Given the description of an element on the screen output the (x, y) to click on. 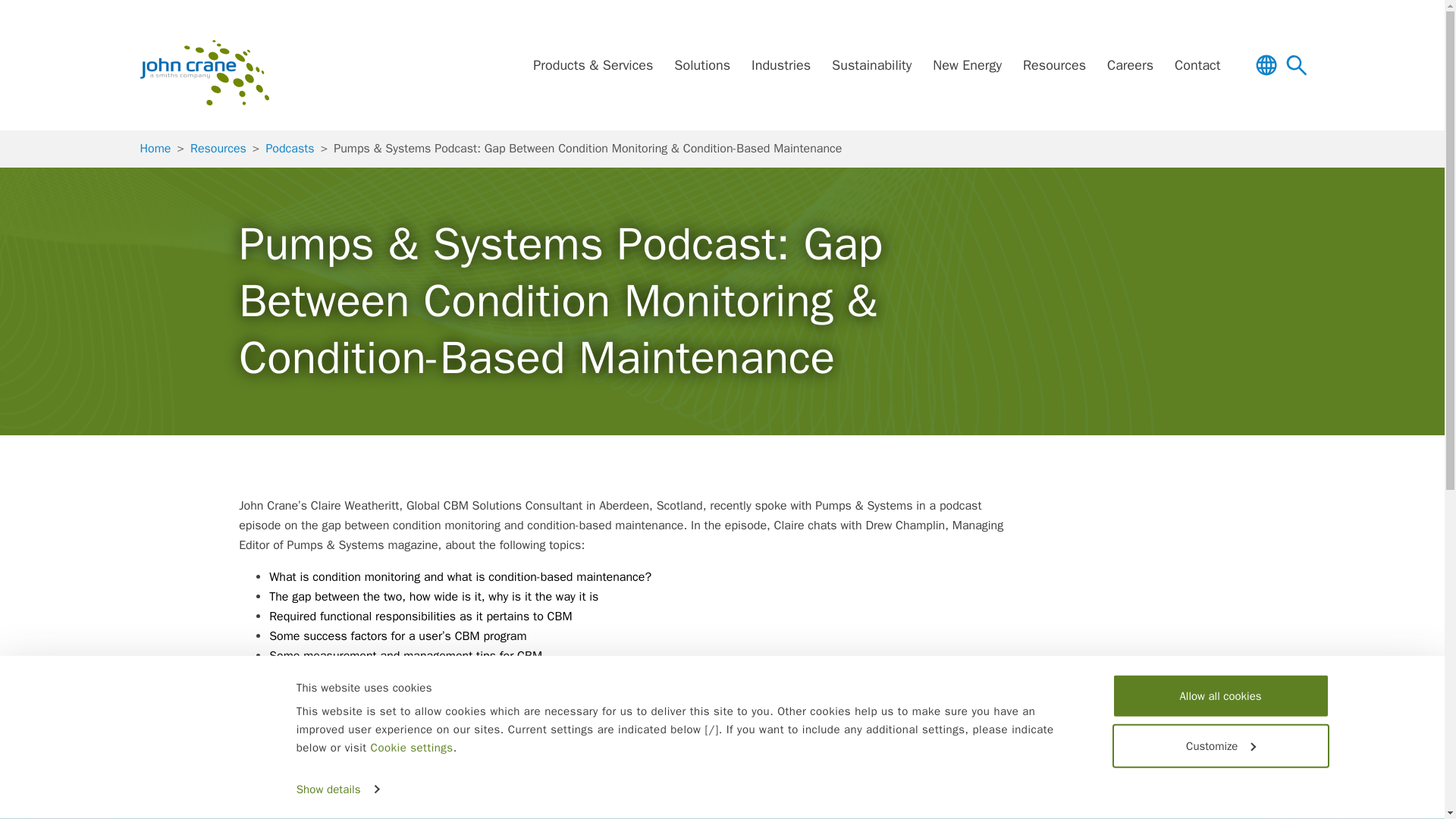
Cookie settings (411, 747)
Show details (337, 789)
